Given the description of an element on the screen output the (x, y) to click on. 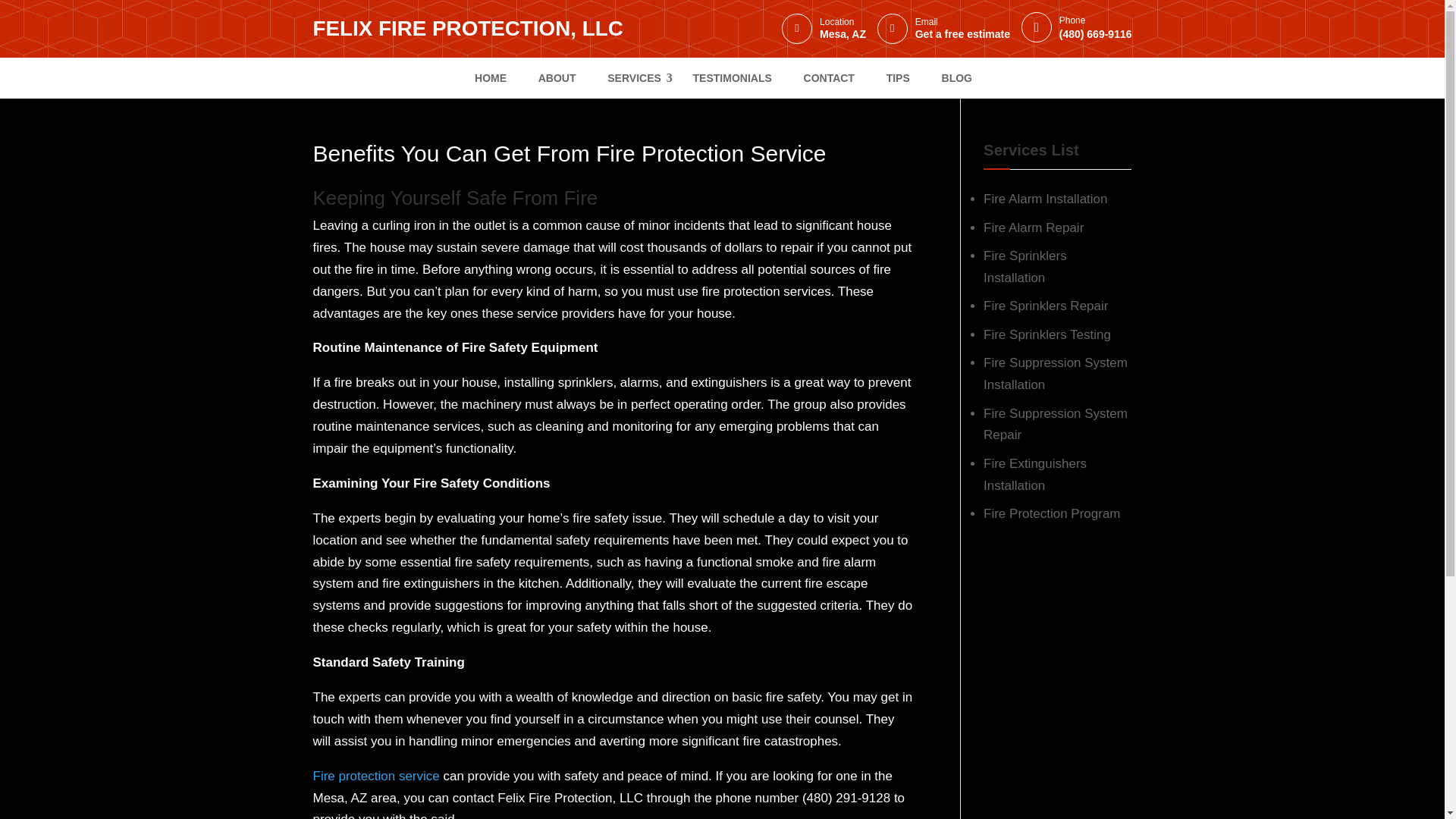
CONTACT (829, 77)
SERVICES (634, 77)
FELIX FIRE PROTECTION, LLC (468, 28)
Fire protection service (376, 775)
TESTIMONIALS (732, 77)
TIPS (897, 77)
ABOUT (556, 77)
BLOG (956, 77)
HOME (490, 77)
